Given the description of an element on the screen output the (x, y) to click on. 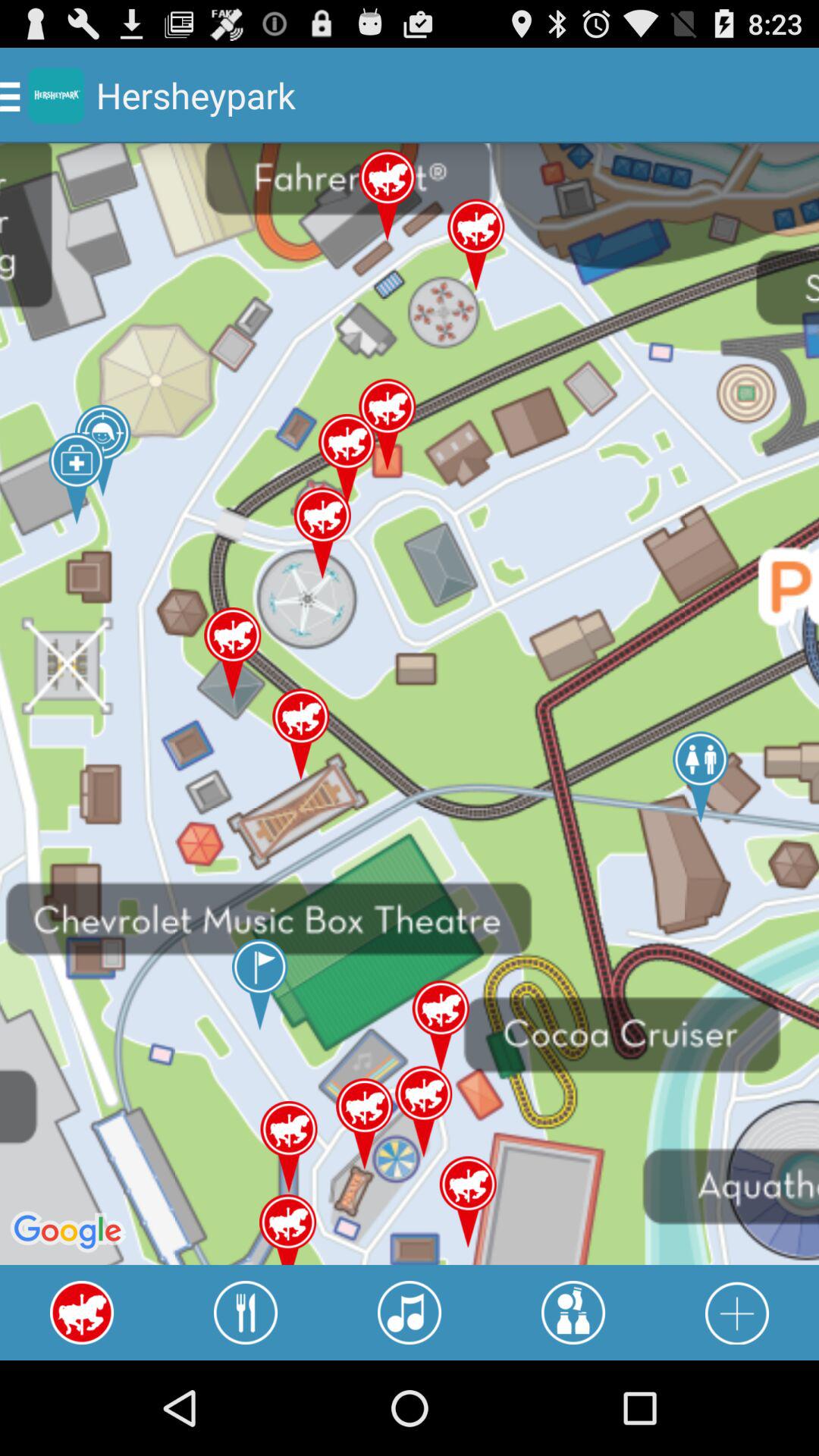
turn on the item below hersheypark app (245, 1312)
